Given the description of an element on the screen output the (x, y) to click on. 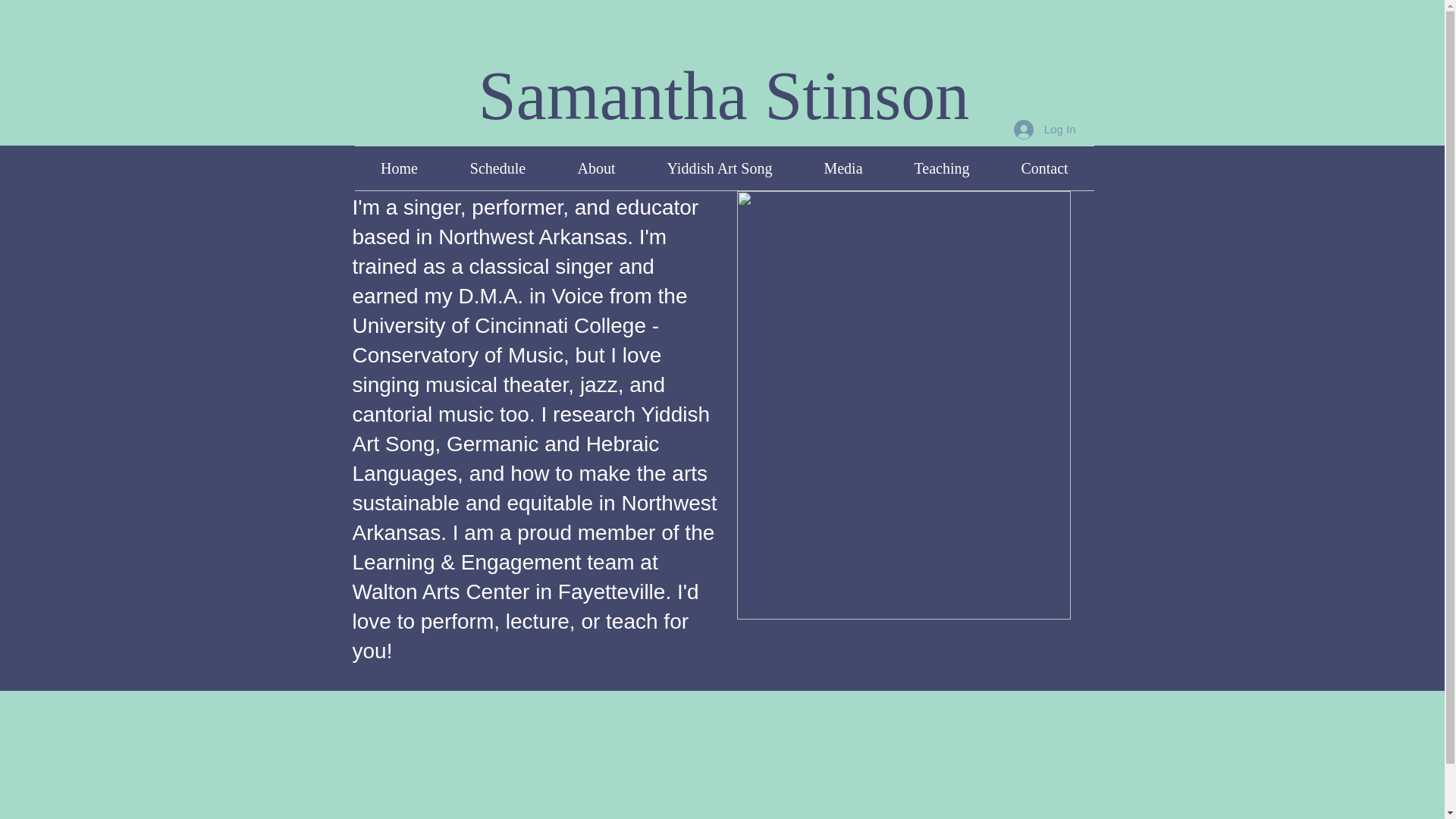
Home (399, 168)
Teaching (941, 168)
About (596, 168)
Samantha Stinson (724, 95)
Log In (1044, 129)
Yiddish Art Song (719, 168)
Schedule (497, 168)
Media (842, 168)
Contact (1043, 168)
